Given the description of an element on the screen output the (x, y) to click on. 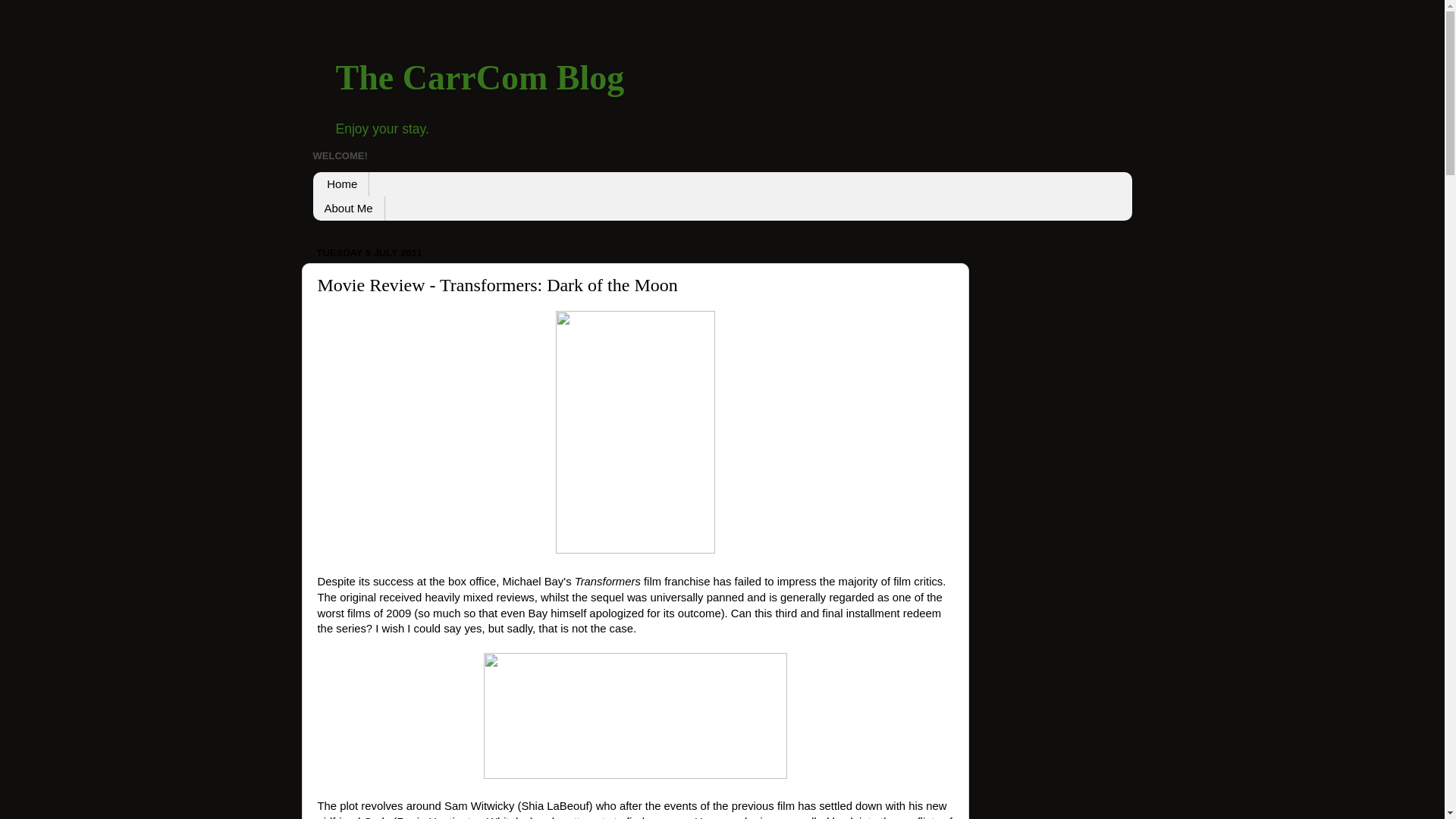
About Me (348, 208)
Home (341, 183)
The CarrCom Blog (479, 77)
